Given the description of an element on the screen output the (x, y) to click on. 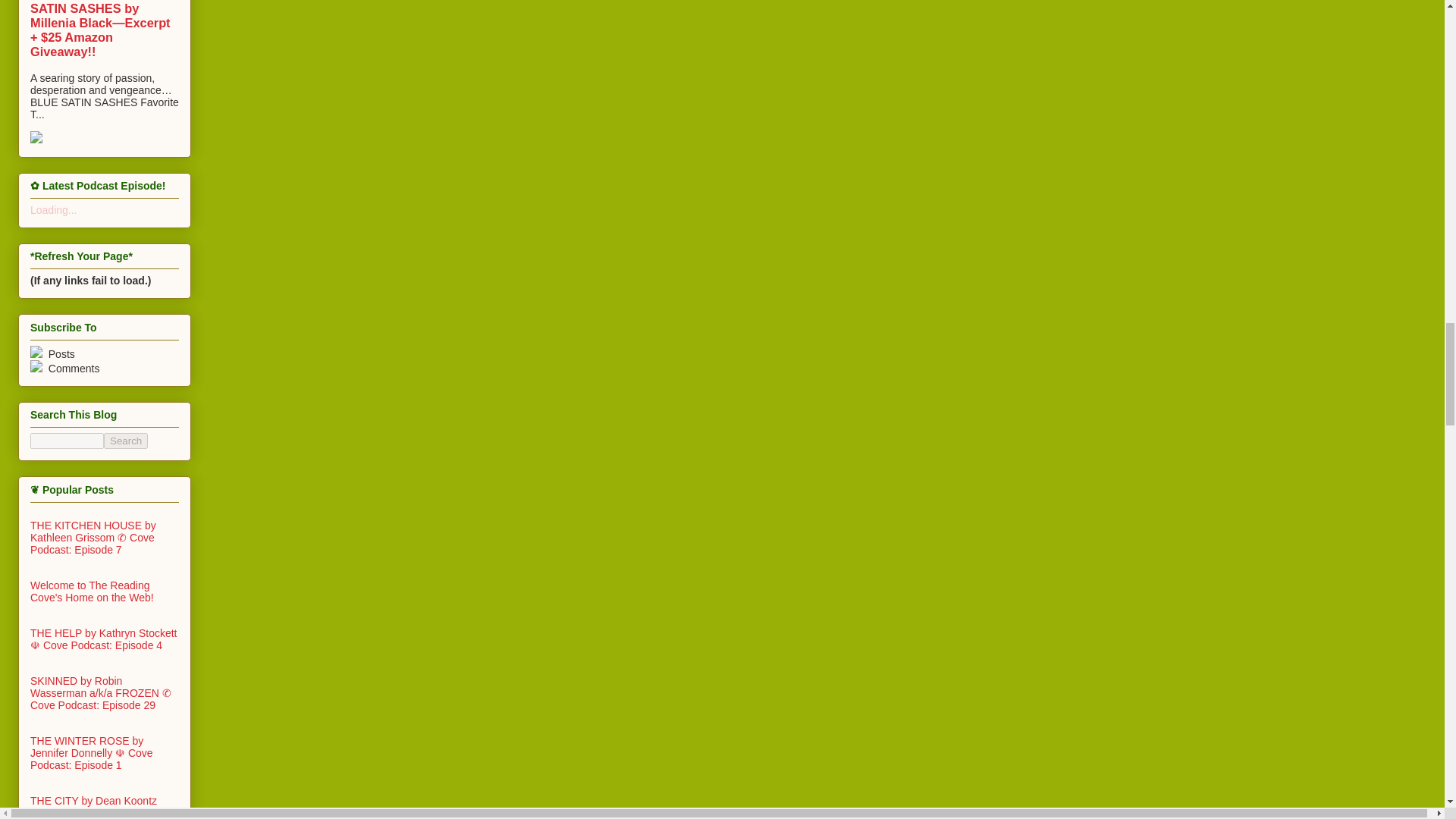
Search (125, 440)
Search (125, 440)
